Given the description of an element on the screen output the (x, y) to click on. 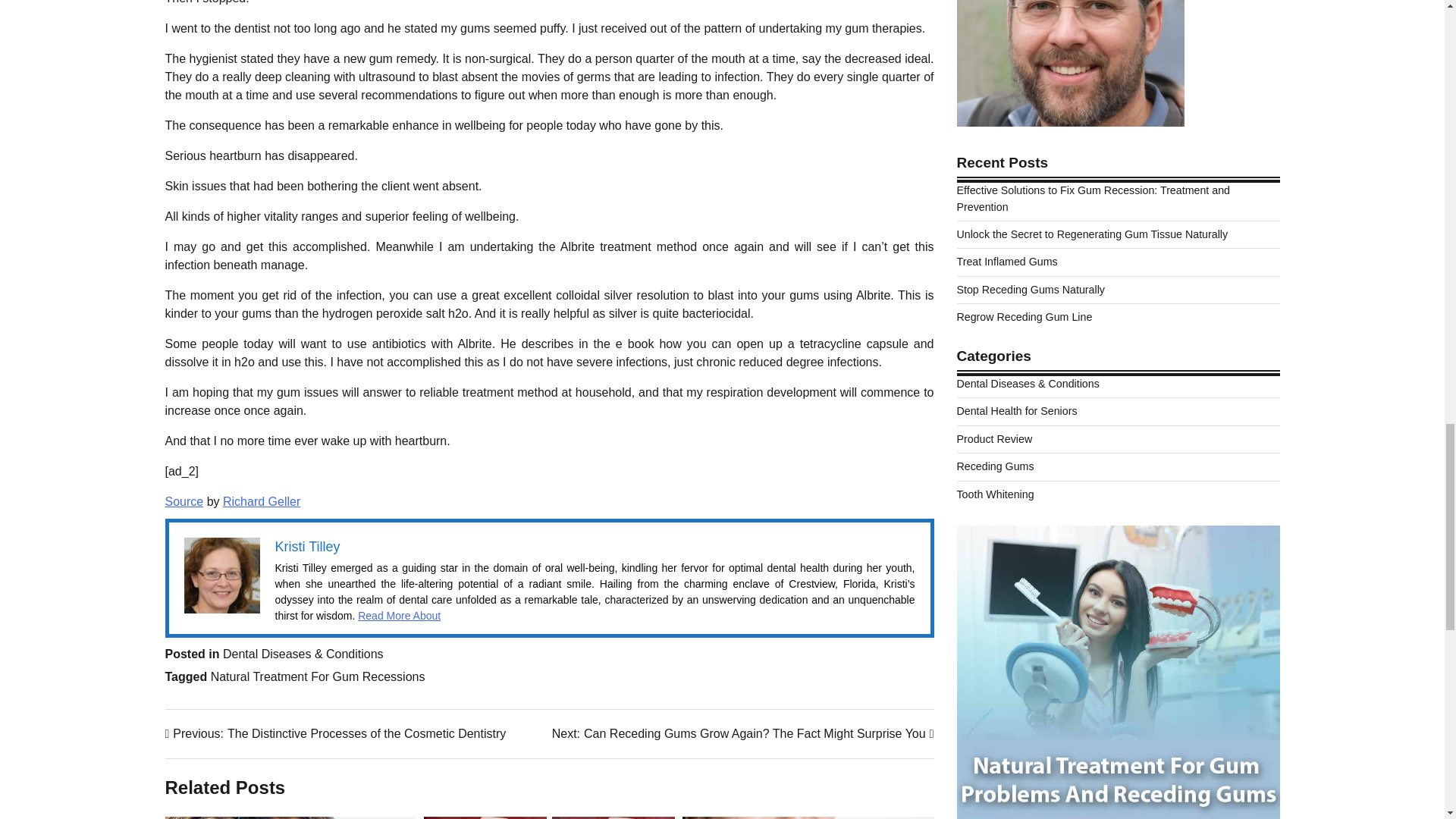
Richard Geller (260, 501)
Natural Treatment For Gum Recessions (318, 676)
Source (184, 501)
Kristi Tilley (307, 546)
Read More About (399, 615)
